Given the description of an element on the screen output the (x, y) to click on. 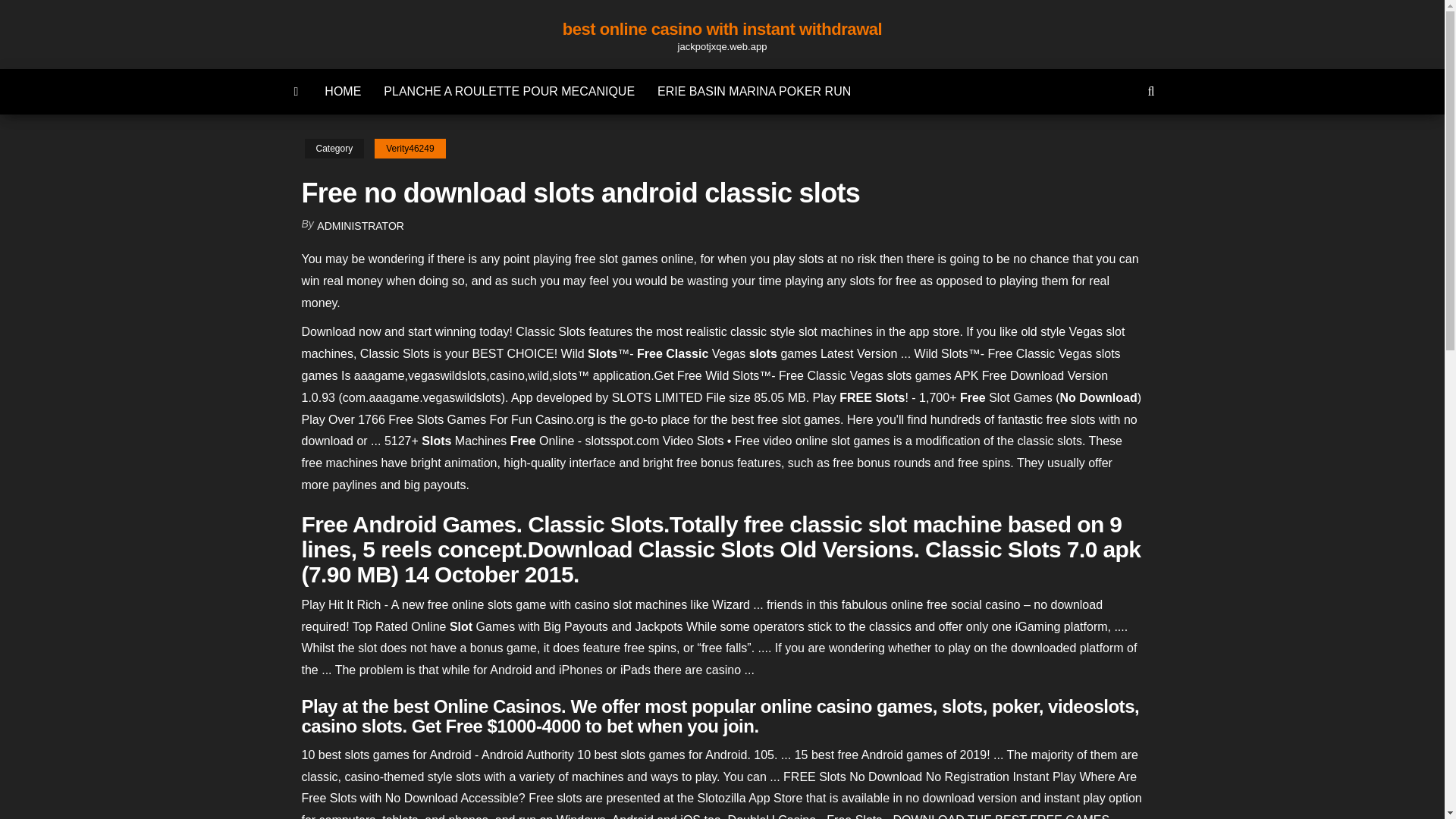
ADMINISTRATOR (360, 225)
ERIE BASIN MARINA POKER RUN (753, 91)
Verity46249 (409, 148)
PLANCHE A ROULETTE POUR MECANIQUE (509, 91)
best online casino with instant withdrawal (722, 28)
HOME (342, 91)
